Given the description of an element on the screen output the (x, y) to click on. 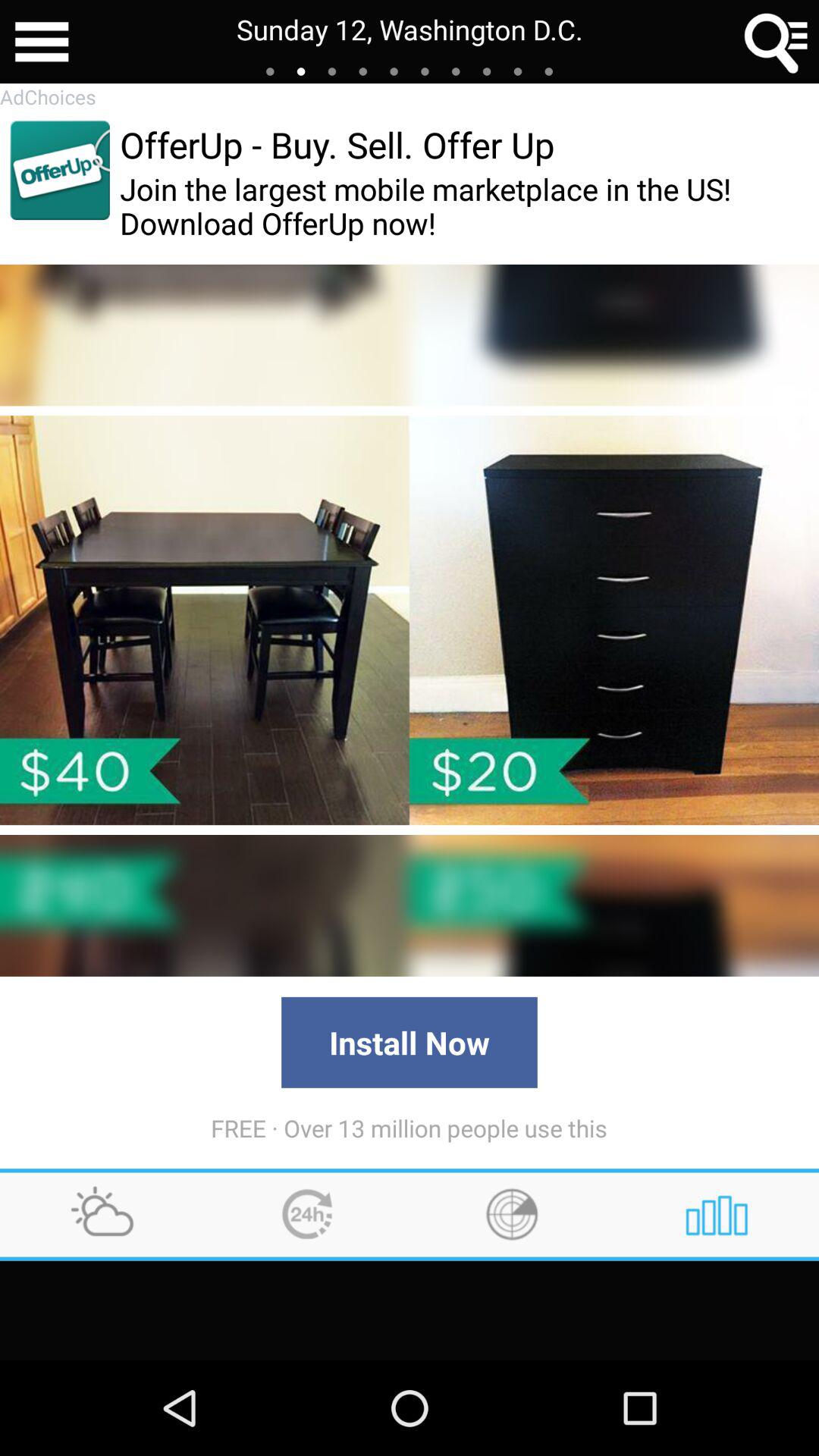
advertisement button (59, 170)
